Given the description of an element on the screen output the (x, y) to click on. 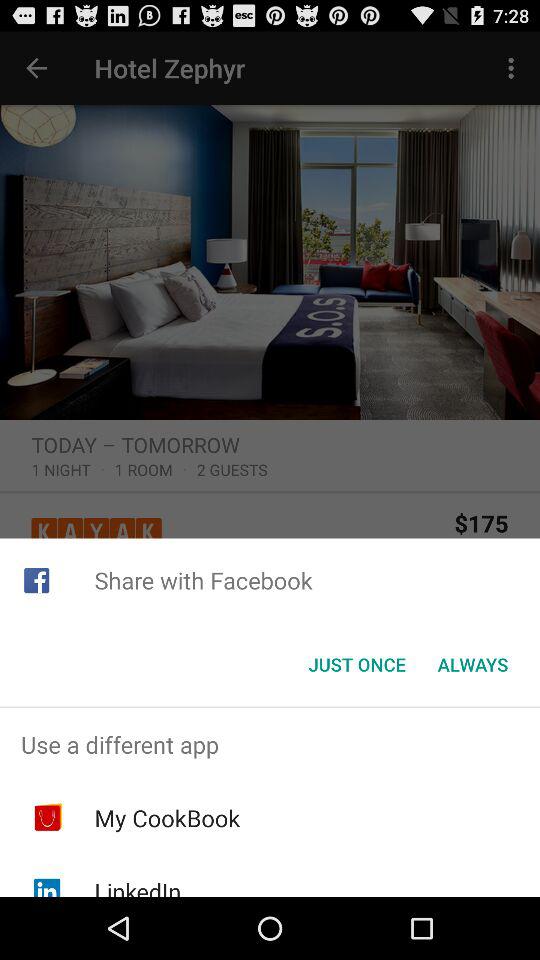
press the use a different item (270, 744)
